Given the description of an element on the screen output the (x, y) to click on. 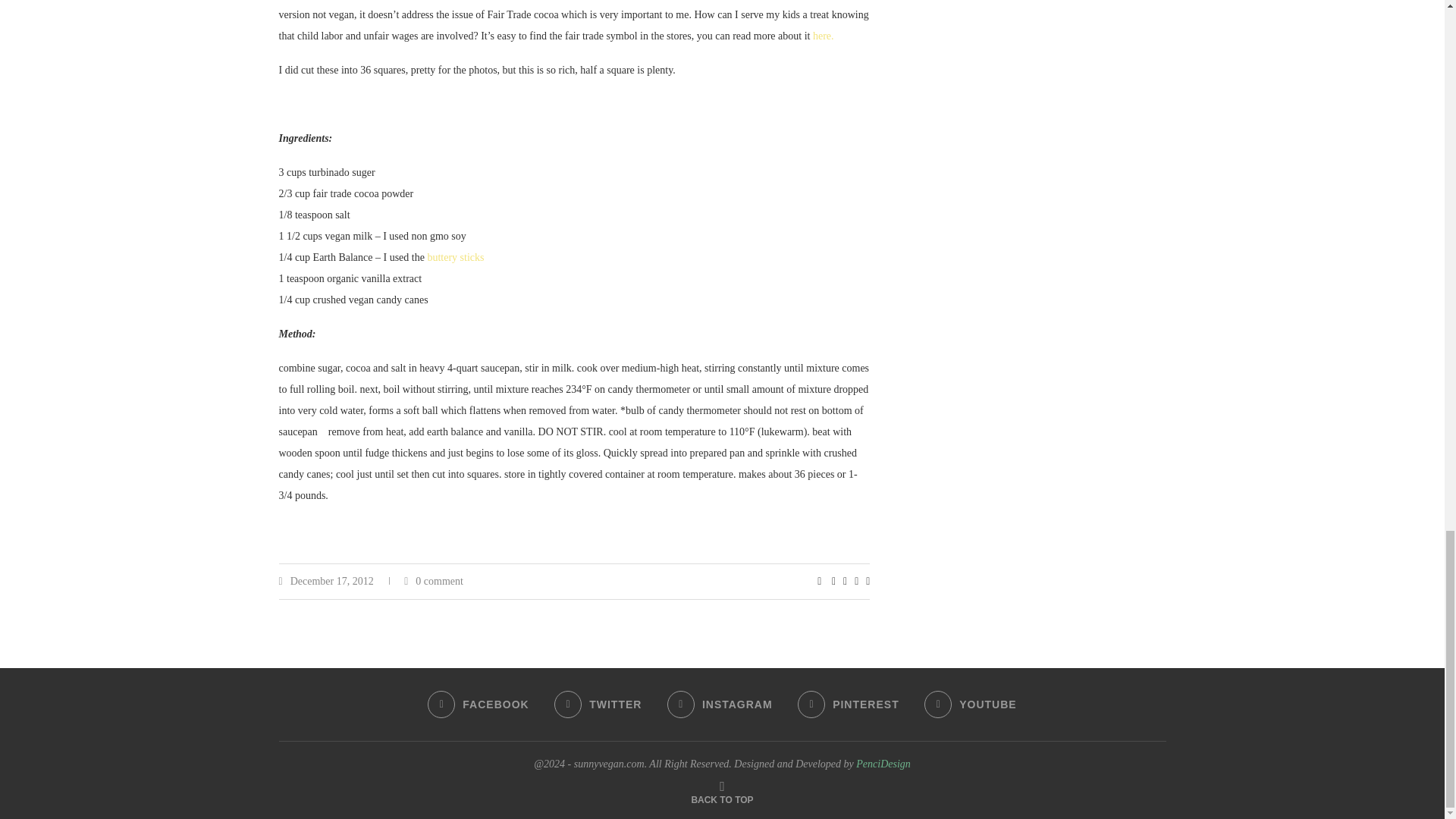
0 comment (433, 581)
here. (823, 35)
buttery sticks (454, 256)
